Given the description of an element on the screen output the (x, y) to click on. 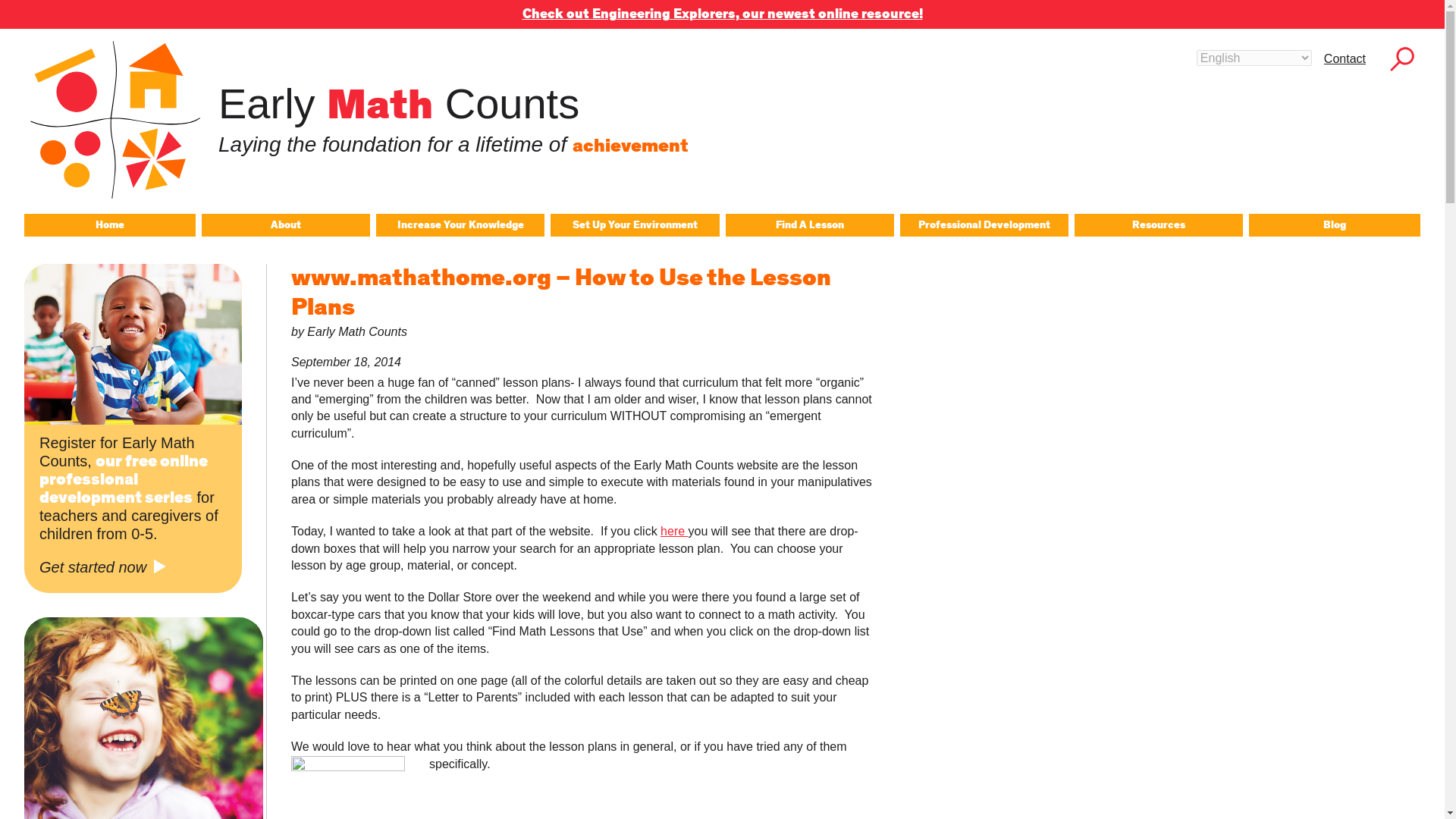
Contact (1344, 58)
Resources (1158, 224)
lessonplanner (347, 787)
Check out Engineering Explorers, our newest online resource! (721, 13)
Professional Development (983, 224)
Find A Lesson (809, 224)
About (285, 224)
Home (109, 224)
Set Up Your Environment (634, 224)
Increase Your Knowledge (459, 224)
